Given the description of an element on the screen output the (x, y) to click on. 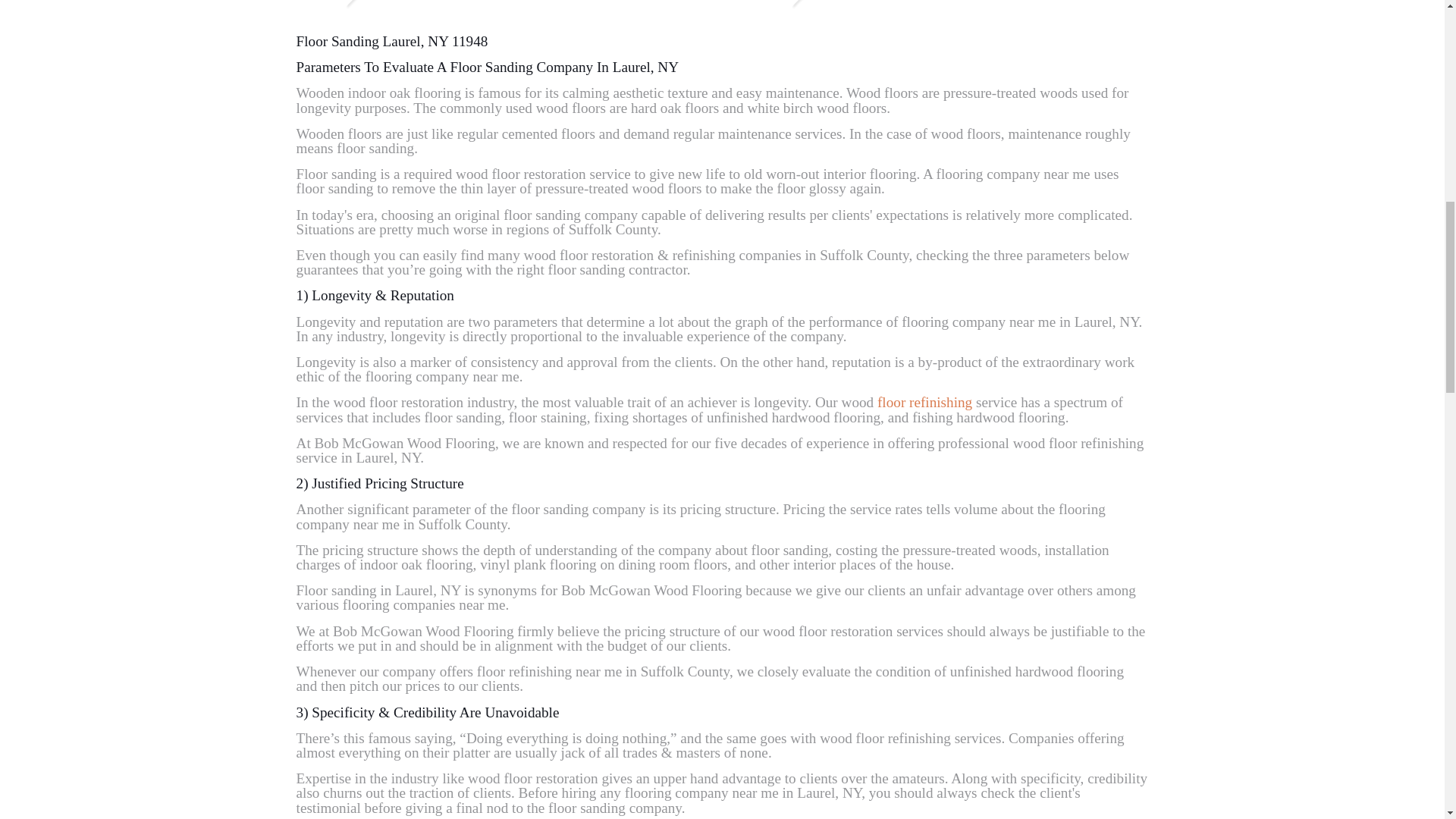
floor refinishing (924, 401)
